Given the description of an element on the screen output the (x, y) to click on. 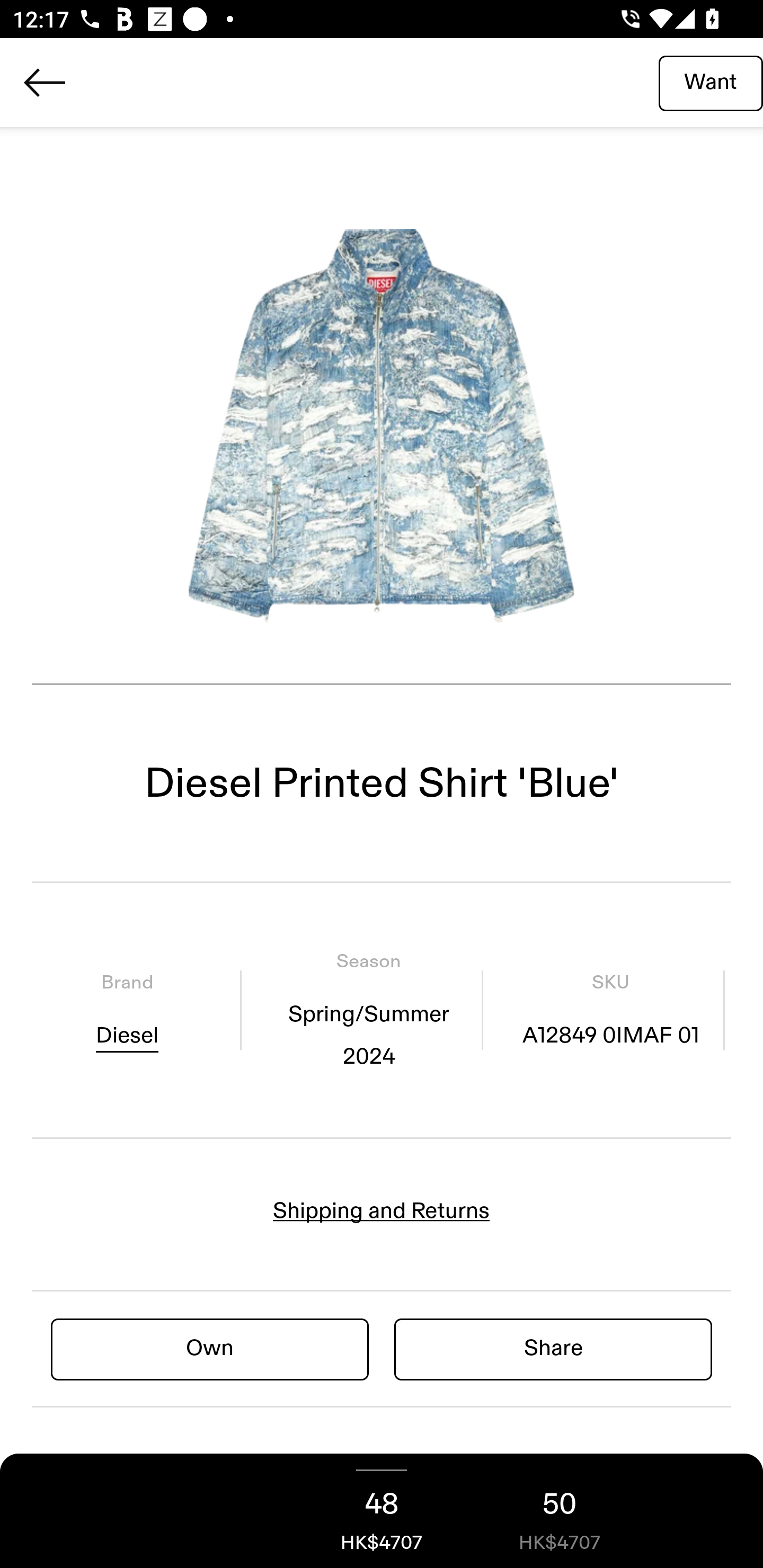
Want (710, 82)
Brand Diesel (126, 1009)
Season Spring/Summer 2024 (368, 1009)
SKU A12849 0IMAF 01 (609, 1009)
Shipping and Returns (381, 1211)
Own (209, 1348)
Share (552, 1348)
48 HK$4707 (381, 1510)
50 HK$4707 (559, 1510)
